Given the description of an element on the screen output the (x, y) to click on. 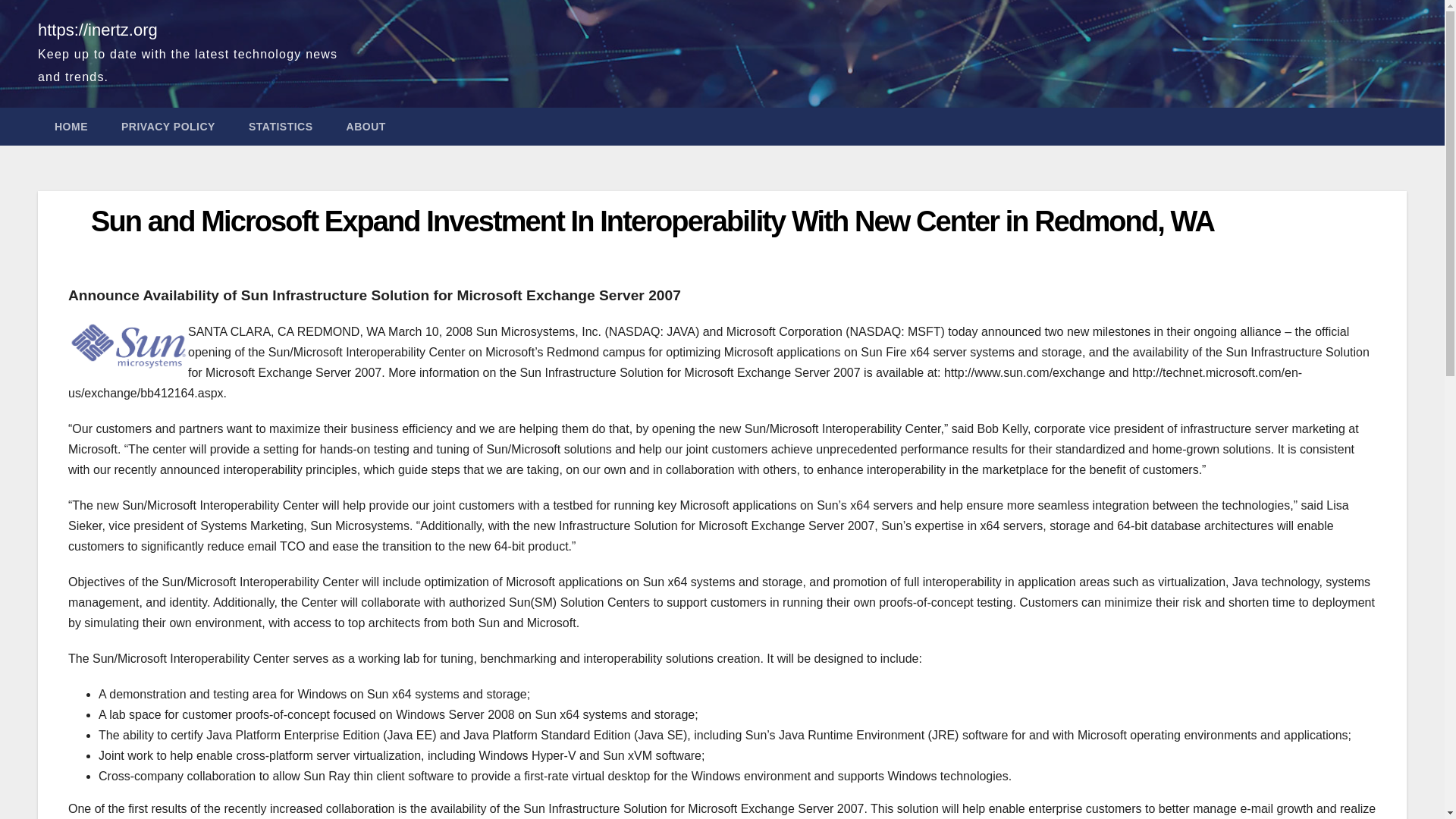
Home (70, 126)
PRIVACY POLICY (167, 126)
ABOUT (366, 126)
HOME (70, 126)
STATISTICS (280, 126)
